Given the description of an element on the screen output the (x, y) to click on. 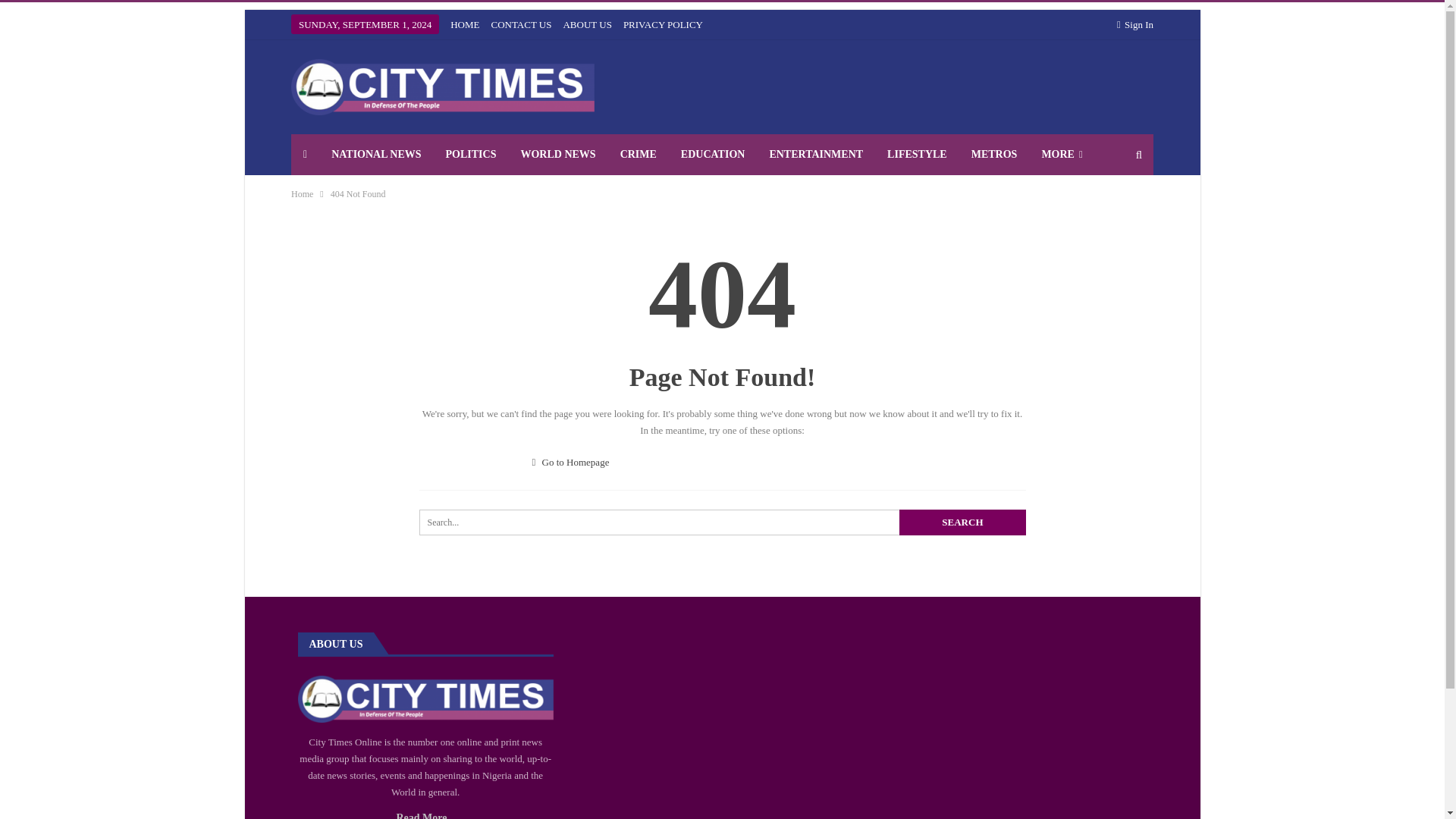
PRIVACY POLICY (663, 24)
ENTERTAINMENT (816, 154)
MORE (1061, 154)
Search for: (722, 522)
ABOUT US (586, 24)
Search (962, 522)
POLITICS (470, 154)
HOME (464, 24)
WORLD NEWS (557, 154)
Home (302, 193)
